Given the description of an element on the screen output the (x, y) to click on. 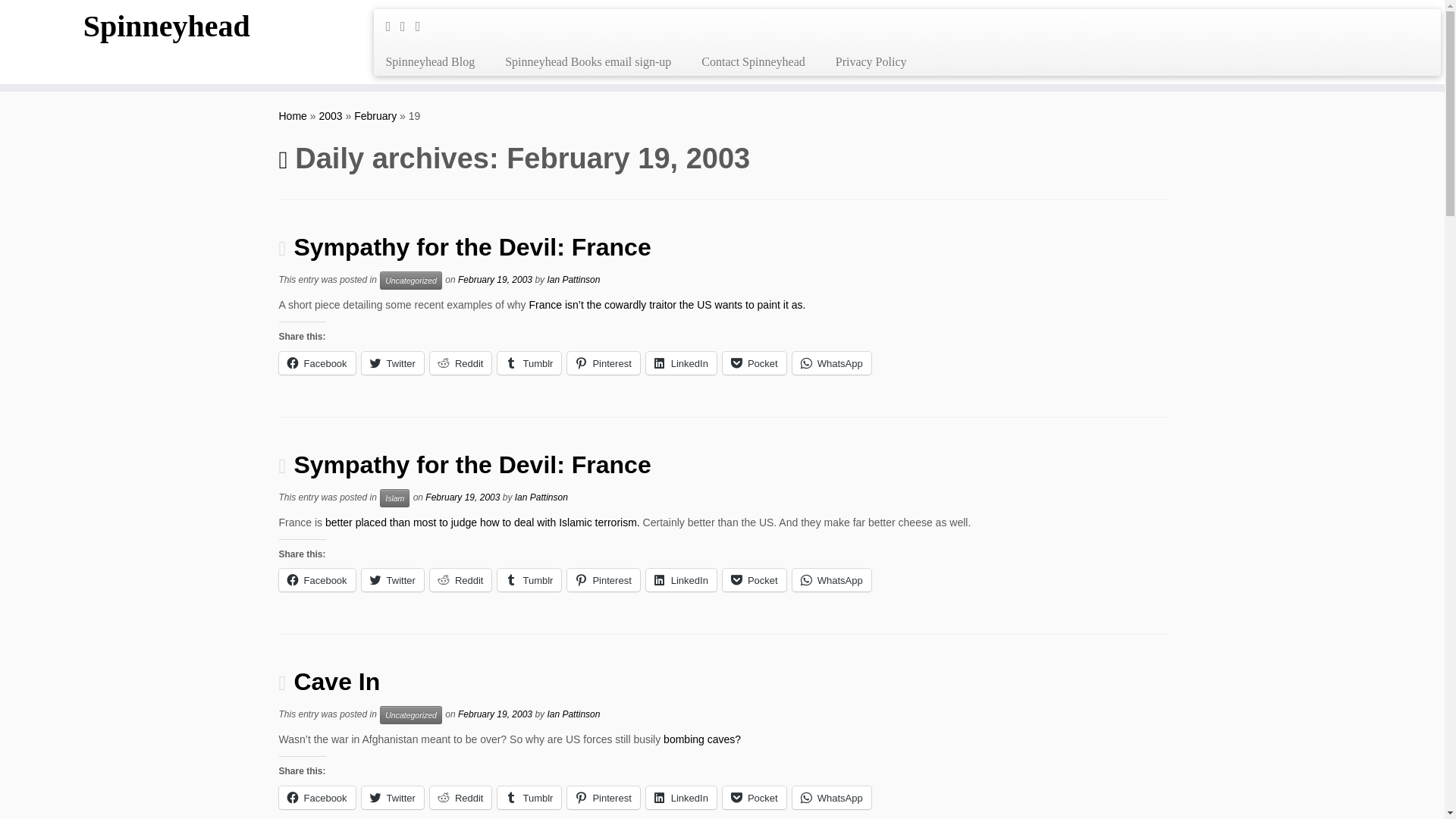
Click to share on LinkedIn (681, 363)
Uncategorized (411, 280)
February (374, 115)
Reddit (460, 363)
10:33 pm (495, 280)
Pocket (754, 363)
February 19, 2003 (495, 280)
Pinterest (603, 363)
Click to share on Twitter (392, 363)
Twitter (392, 579)
Follow me on Twitter (407, 26)
Reddit (460, 579)
Click to share on Pinterest (603, 363)
Ian Pattinson (541, 497)
Home (293, 115)
